Given the description of an element on the screen output the (x, y) to click on. 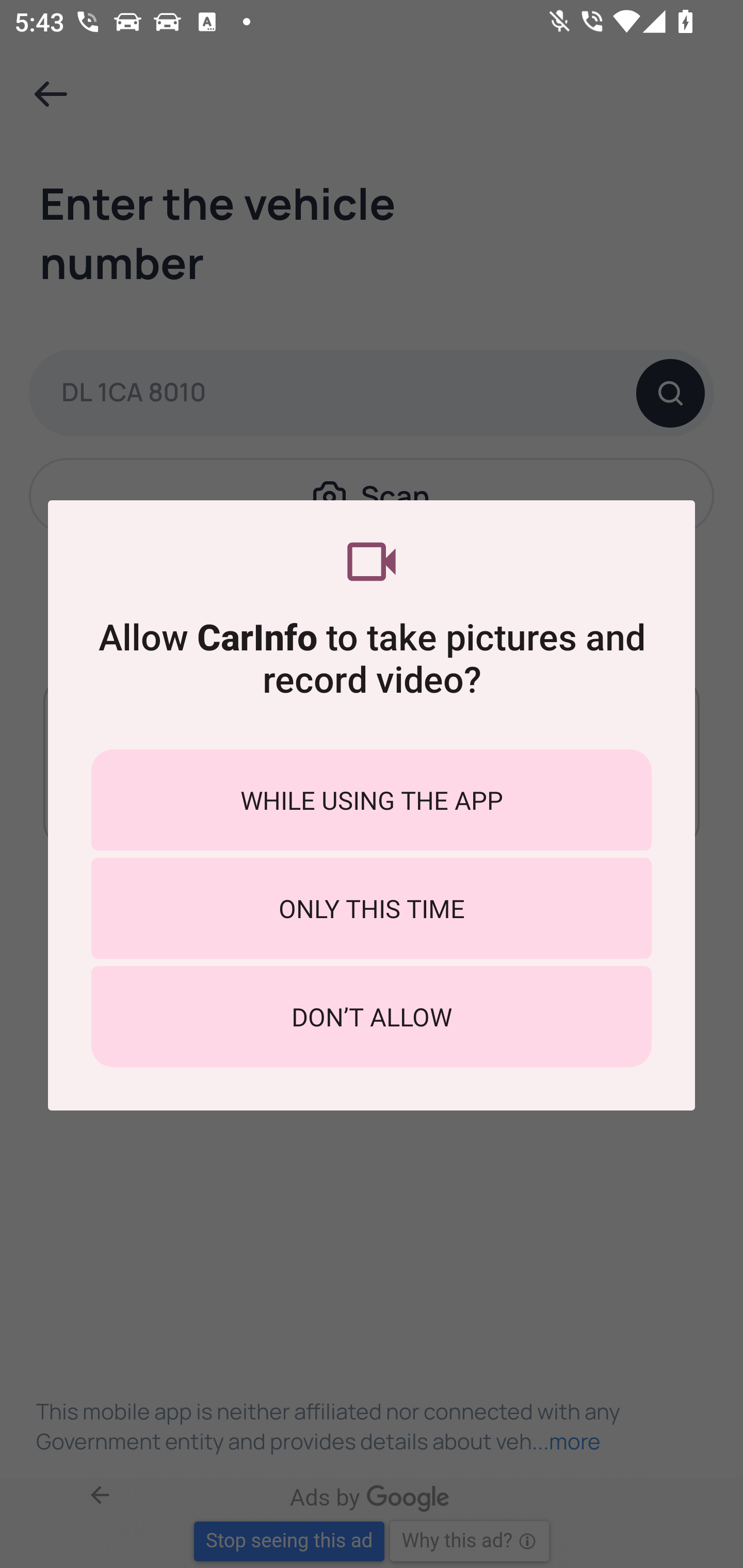
WHILE USING THE APP (371, 799)
ONLY THIS TIME (371, 908)
DON’T ALLOW (371, 1016)
